Given the description of an element on the screen output the (x, y) to click on. 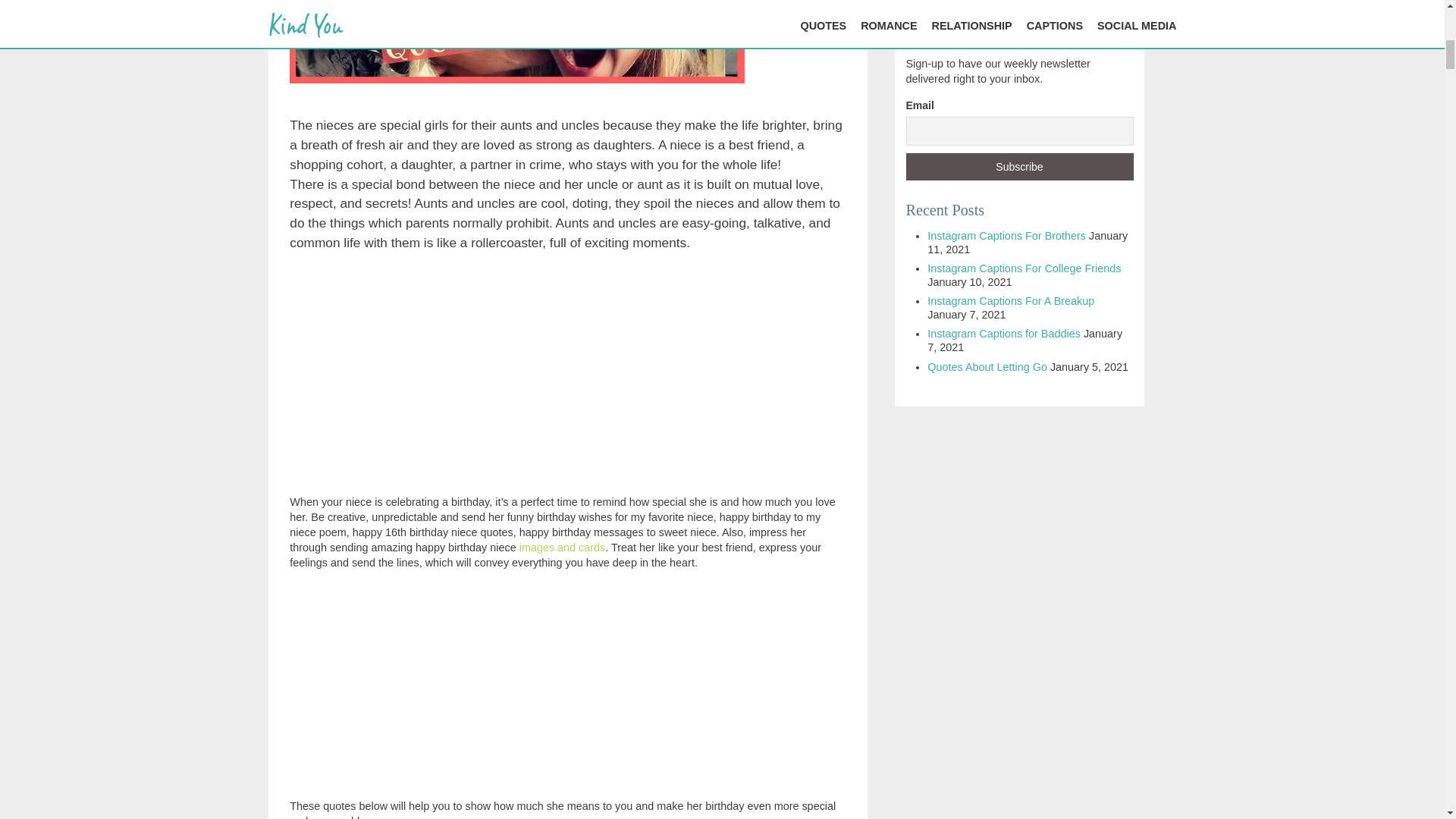
Subscribe (1018, 166)
Advertisement (567, 372)
Instagram Captions For College Friends (1024, 268)
Subscribe (1018, 166)
Quotes About Letting Go (986, 367)
images and cards (562, 547)
Search (944, 2)
Instagram Captions For A Breakup (1010, 300)
Instagram Captions for Baddies (1003, 333)
Instagram Captions For Brothers (1006, 235)
Search (944, 2)
Advertisement (567, 676)
